Given the description of an element on the screen output the (x, y) to click on. 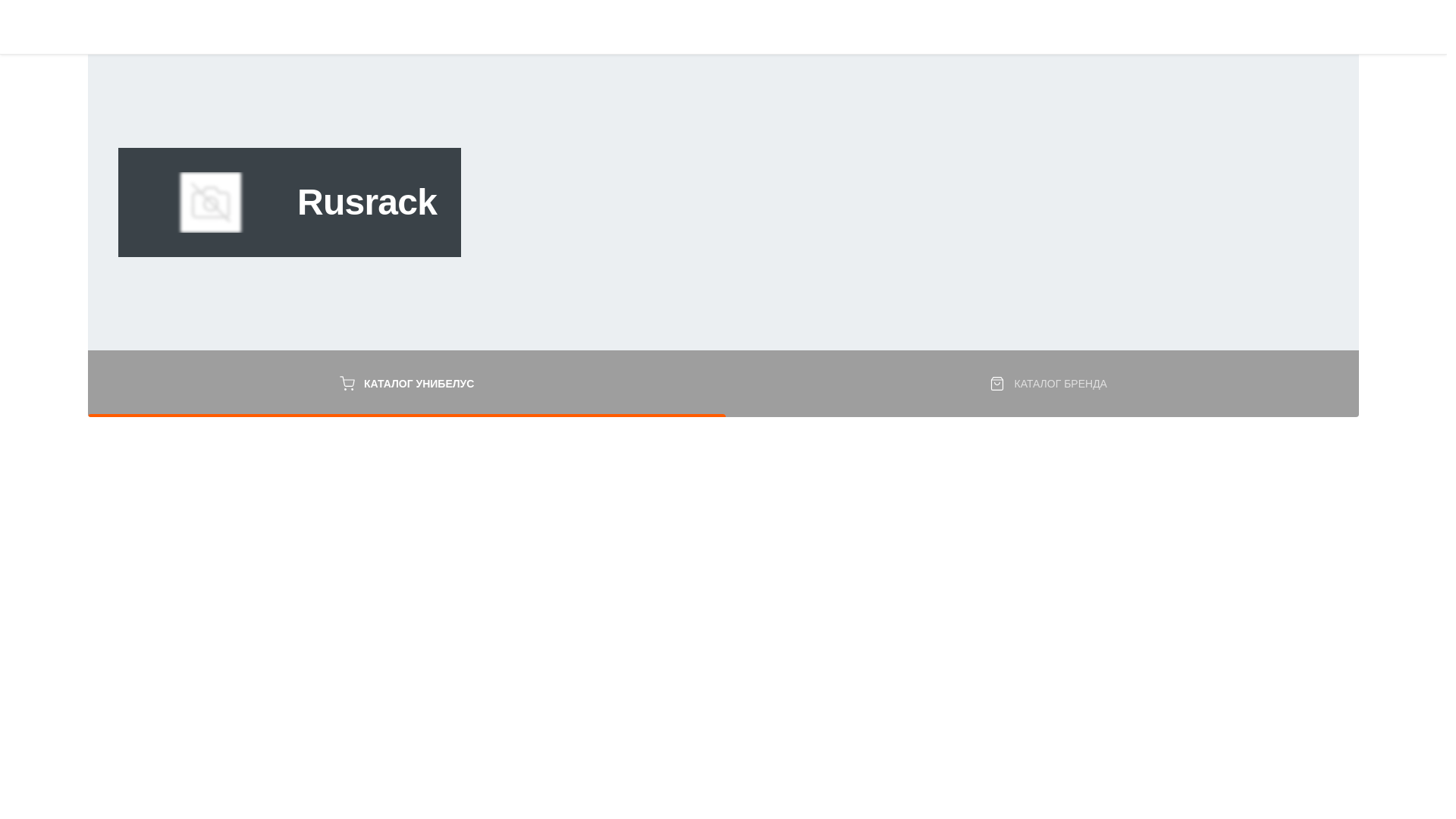
Rusrack Element type: hover (210, 202)
